Given the description of an element on the screen output the (x, y) to click on. 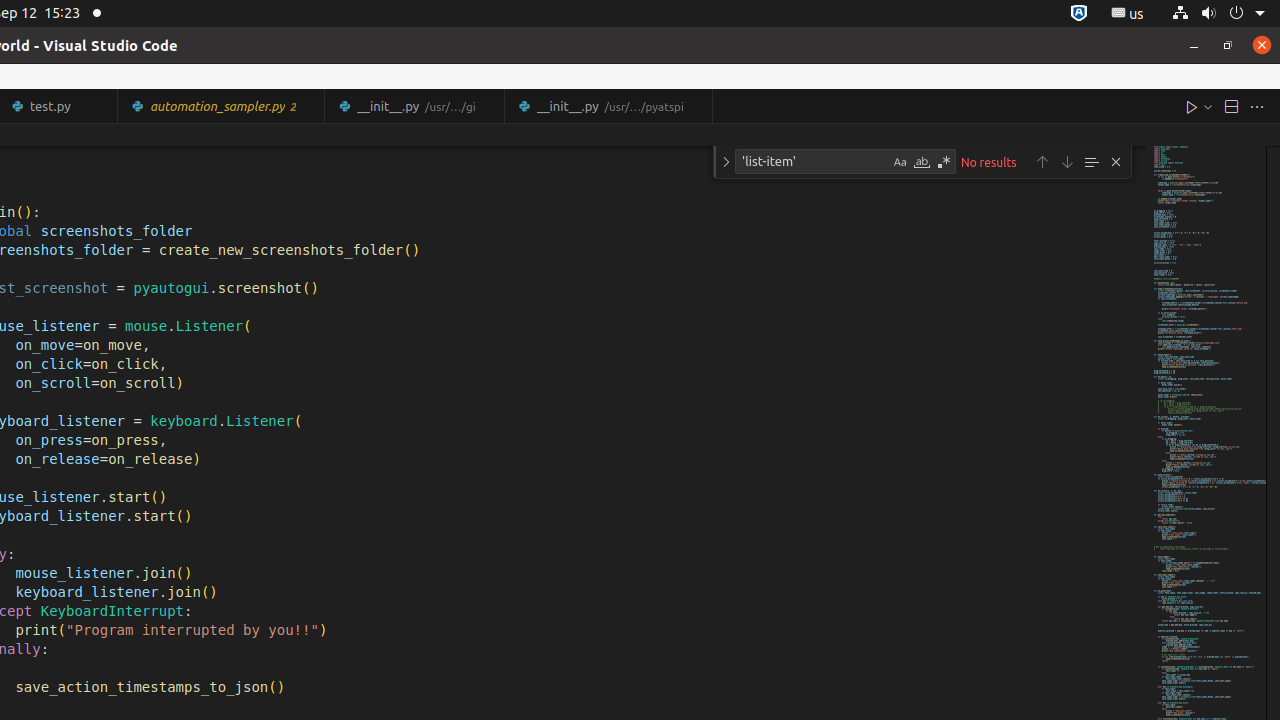
Match Whole Word (Alt+W) Element type: check-box (922, 162)
Close (Ctrl+W) Element type: push-button (697, 106)
Find in Selection (Alt+L) Element type: check-box (1091, 161)
More Actions... Element type: push-button (1257, 106)
